Given the description of an element on the screen output the (x, y) to click on. 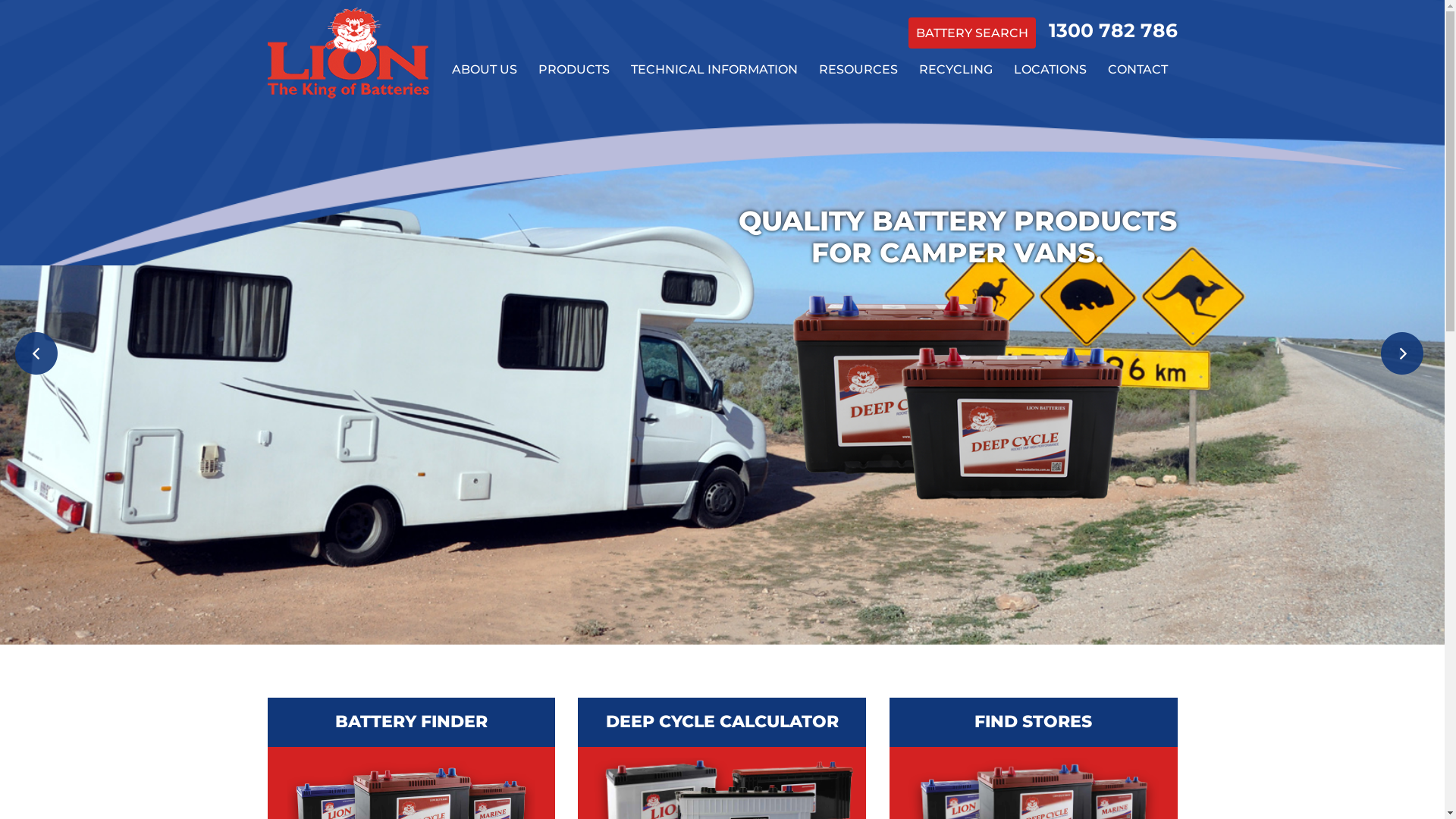
CONTACT Element type: text (1137, 69)
TRACTION BATTERIES Element type: text (572, 282)
SOUTH AUSTRALIA Element type: text (1050, 214)
BATTERY CHARGING Element type: text (713, 214)
STANDBY BATTERIES Element type: text (572, 384)
VICTORIA/TASMANIA Element type: text (1050, 180)
TECHNICAL INFORMATION Element type: text (713, 69)
BATTERY SEARCH Element type: text (971, 32)
NEW SOUTH WALES Element type: text (1050, 111)
PRODUCT CATALOGUES Element type: text (857, 111)
FORKLIFT BATTERIES Element type: text (572, 316)
RESOURCES Element type: text (857, 69)
BATTERY FITTING Element type: text (857, 248)
RECYCLING Element type: text (954, 69)
PRODUCTS Element type: text (572, 69)
1300 782 786 Element type: text (1112, 29)
ALL ABOUT BATTERIES Element type: text (713, 111)
ABOUT US Element type: text (483, 69)
SOLAR BATTERIES Element type: text (572, 350)
TERMS AND CONDITIONS Element type: text (857, 145)
LION STANDBY Element type: text (483, 145)
TECHNICAL BULLETINS Element type: text (713, 145)
MARINE BATTERIES Element type: text (572, 145)
HEALTH & SAFETY Element type: text (857, 180)
QUEENSLAND Element type: text (1050, 145)
DEEP CYCLE BATTERIES Element type: text (572, 180)
AGM AND GEL BATTERIES Element type: text (572, 214)
WESTERN AUSTRALIA Element type: text (1050, 248)
MATERIAL SAFETY DATA SHEETS Element type: text (713, 180)
Next Element type: text (1404, 356)
LOCATIONS Element type: text (1050, 69)
LION MOTIVE POWER Element type: text (483, 111)
JUMP STARTING Element type: text (857, 214)
LITHIUM IRON PHOSPHATE BATTERIES Element type: text (572, 248)
AUTOMOTIVE BATTERIES Element type: text (572, 111)
Previous Element type: text (39, 356)
